Given the description of an element on the screen output the (x, y) to click on. 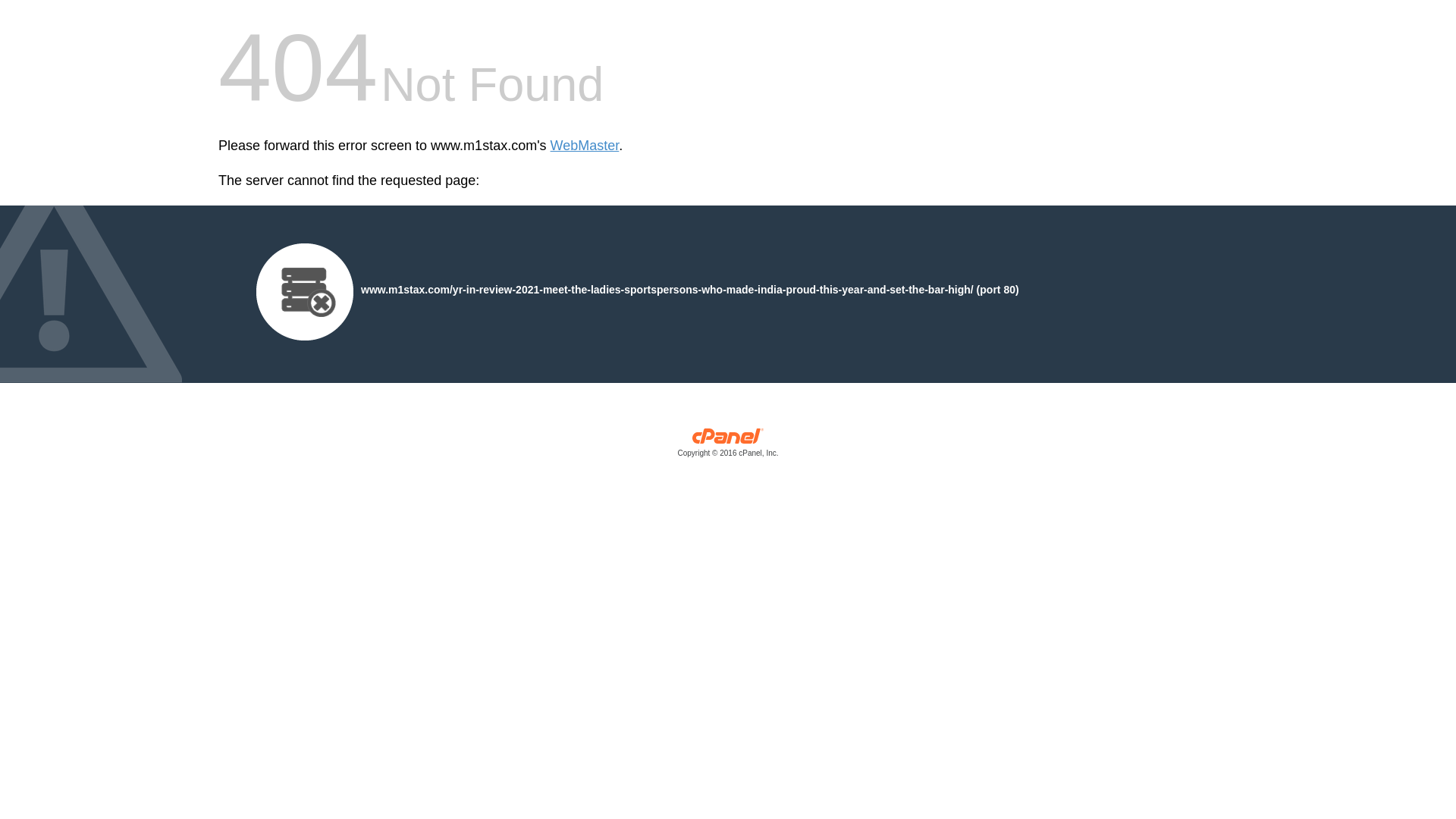
WebMaster (585, 145)
cPanel, Inc. (727, 446)
